Given the description of an element on the screen output the (x, y) to click on. 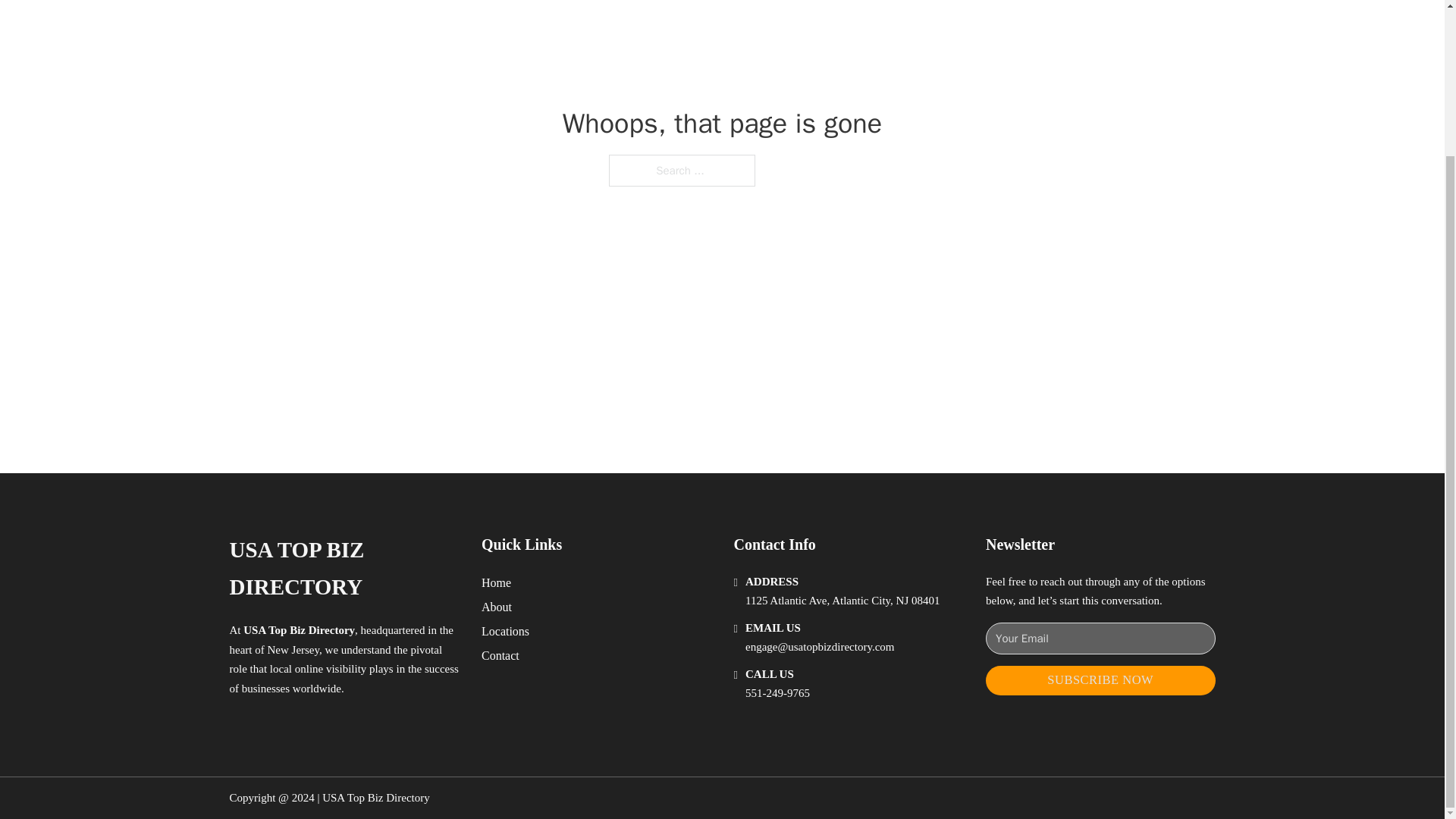
SUBSCRIBE NOW (1100, 680)
Contact (500, 655)
USA TOP BIZ DIRECTORY (343, 568)
About (496, 607)
Locations (505, 630)
551-249-9765 (777, 693)
Home (496, 582)
